Given the description of an element on the screen output the (x, y) to click on. 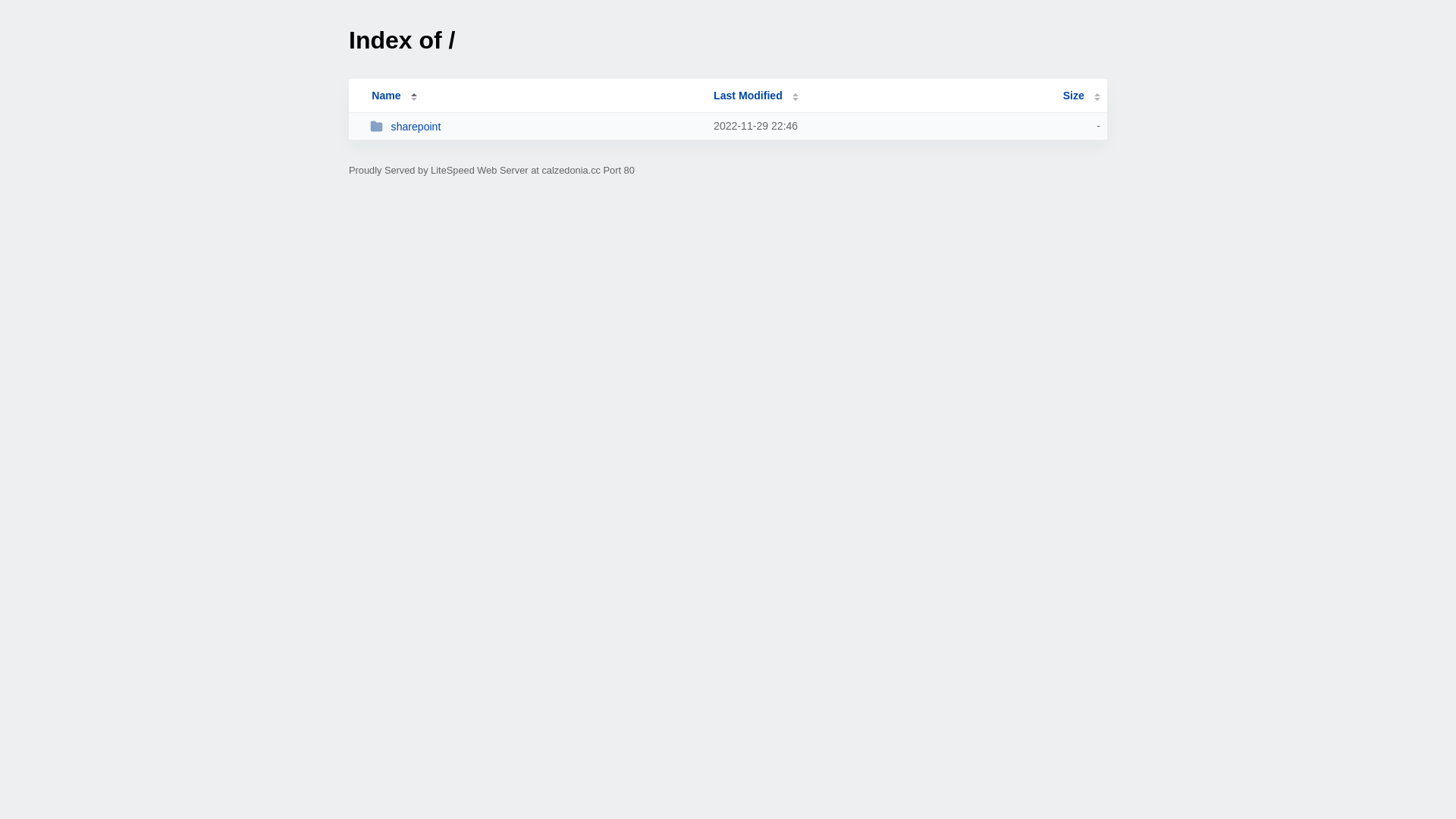
Size Element type: text (1081, 95)
Name Element type: text (385, 95)
sharepoint Element type: text (534, 125)
Last Modified Element type: text (755, 95)
